Given the description of an element on the screen output the (x, y) to click on. 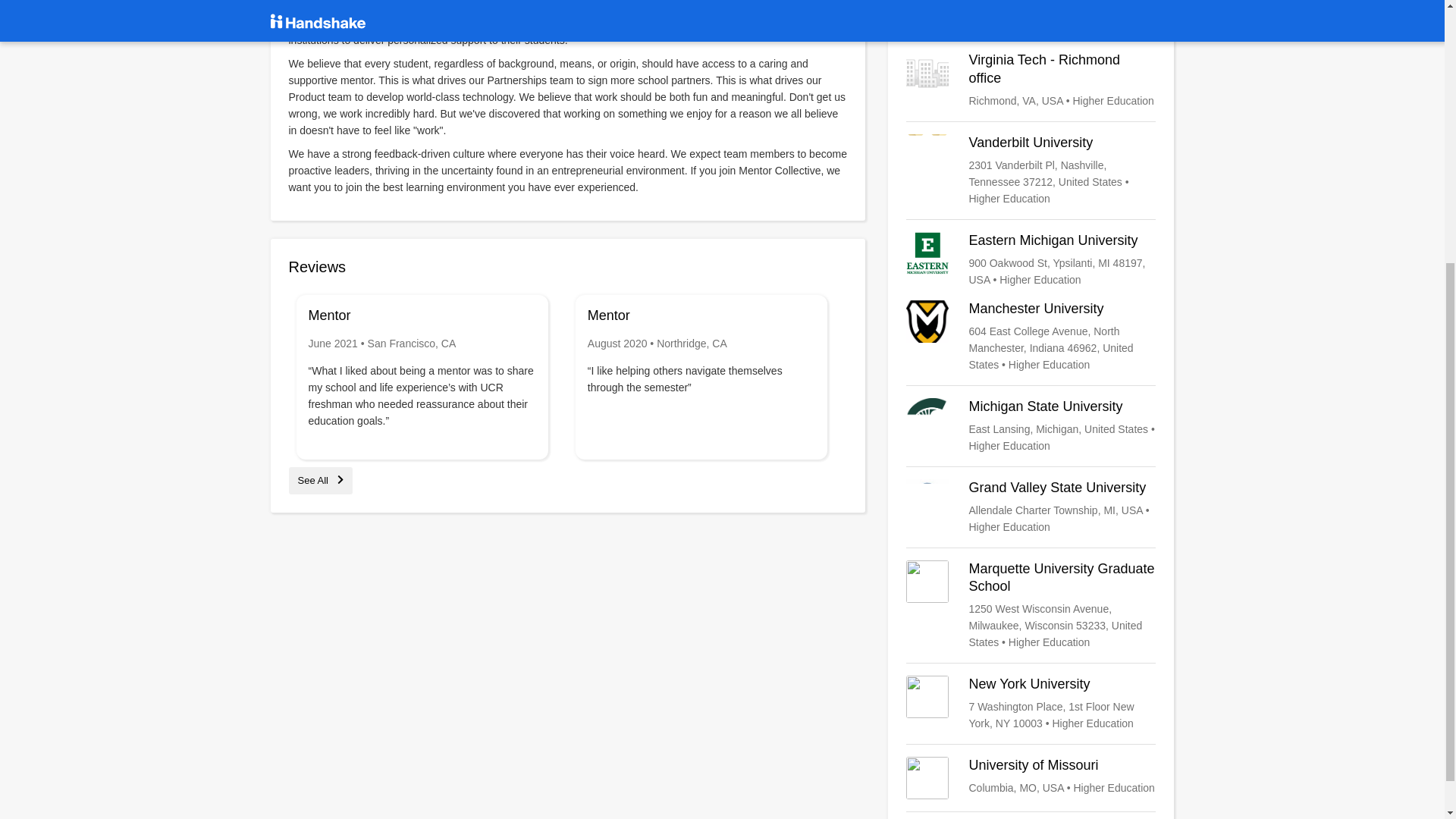
New York University (1030, 703)
University of Missouri (1030, 777)
Vanderbilt University (1030, 170)
Eastern Michigan University (1030, 259)
Grand Valley State University (1030, 507)
University of Notre Dame Law School (1030, 13)
Virginia Tech - Richmond office (1030, 79)
See All (320, 480)
Marquette University Graduate School (1030, 605)
Manchester University (1030, 336)
Michigan State University (1030, 426)
